Given the description of an element on the screen output the (x, y) to click on. 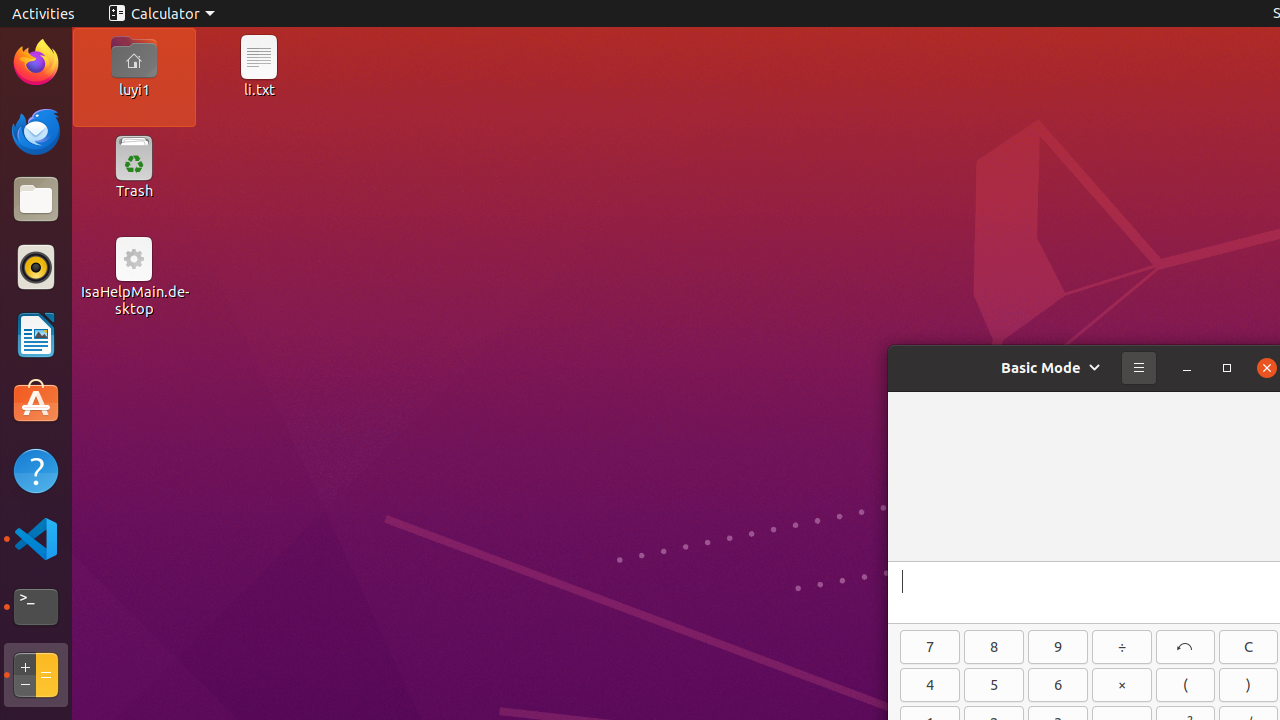
Calculator Element type: push-button (36, 675)
Activities Element type: label (43, 13)
6 Element type: push-button (1058, 685)
